Given the description of an element on the screen output the (x, y) to click on. 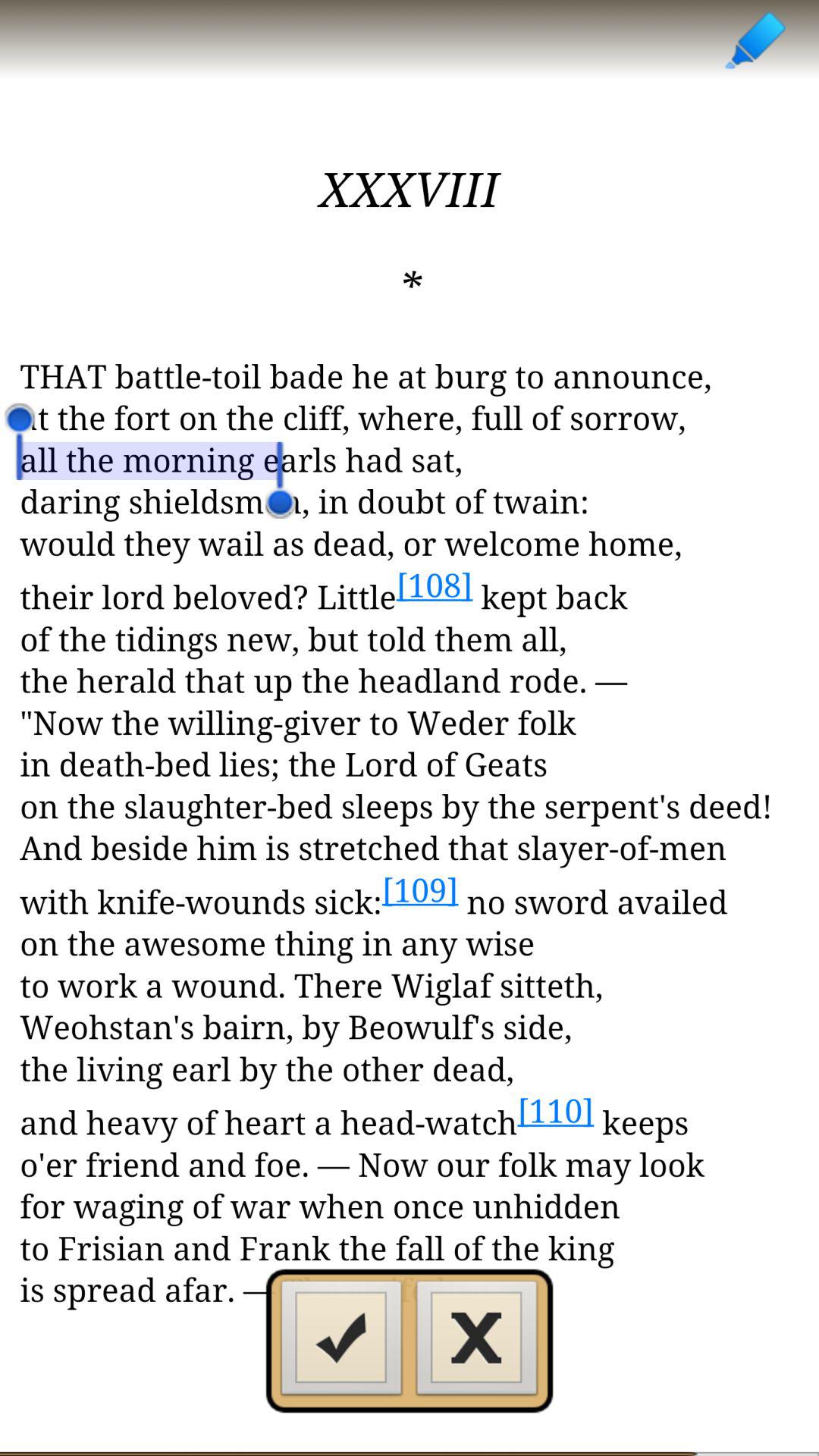
confirm highlight (341, 1341)
